Given the description of an element on the screen output the (x, y) to click on. 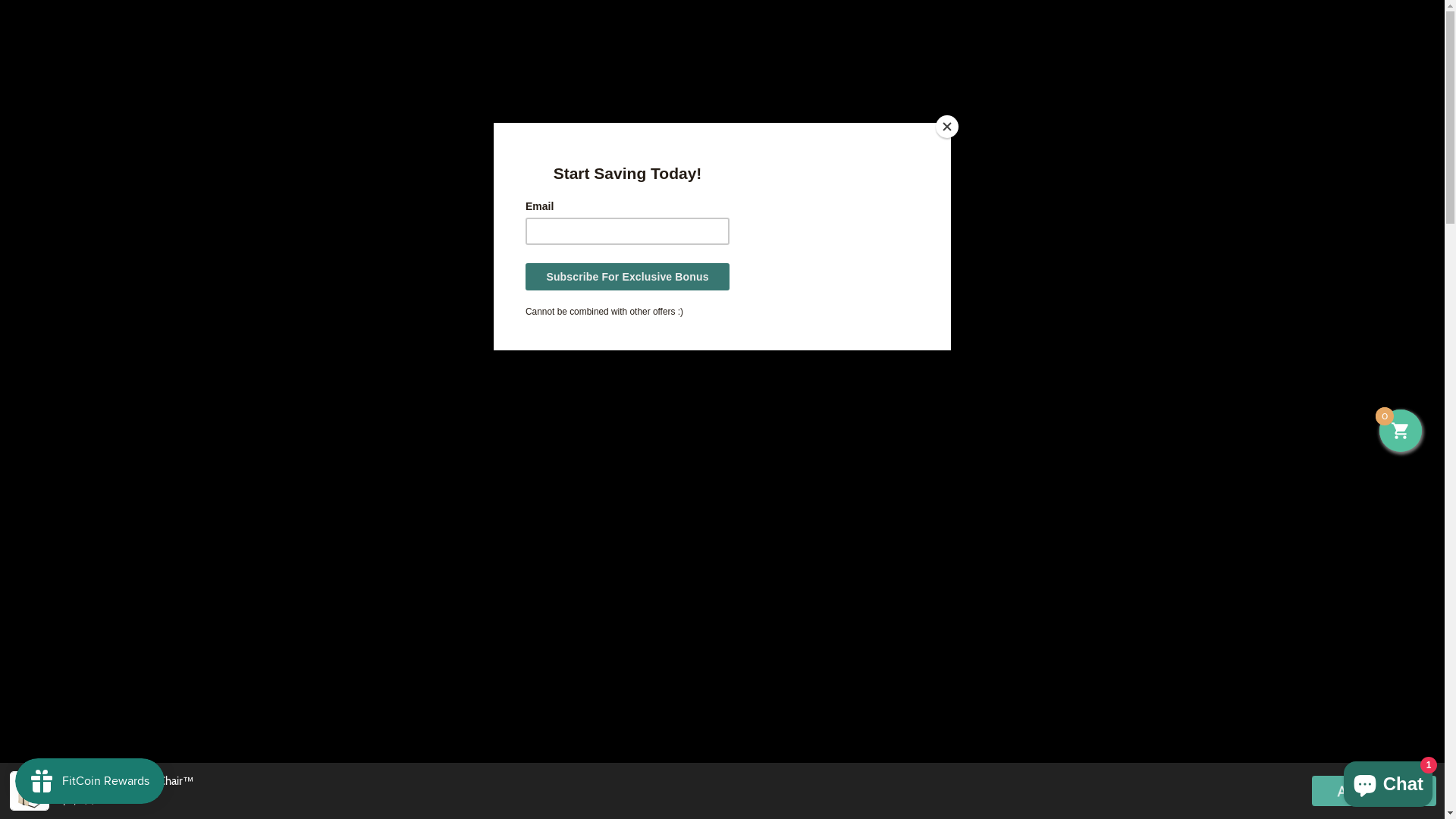
Learn more Element type: text (487, 223)
Shopify online store chat Element type: hover (1388, 780)
Cart Element type: text (1138, 45)
Search Element type: text (1105, 43)
Account Element type: text (1136, 114)
MENU
SITE NAVIGATION Element type: text (317, 114)
0 Element type: text (1400, 430)
ADD TO CART Element type: text (1019, 473)
+ Element type: text (873, 473)
Shipping Element type: text (837, 397)
Smile.io Rewards Program Launcher Element type: hover (89, 780)
Close Element type: text (1414, 152)
